Given the description of an element on the screen output the (x, y) to click on. 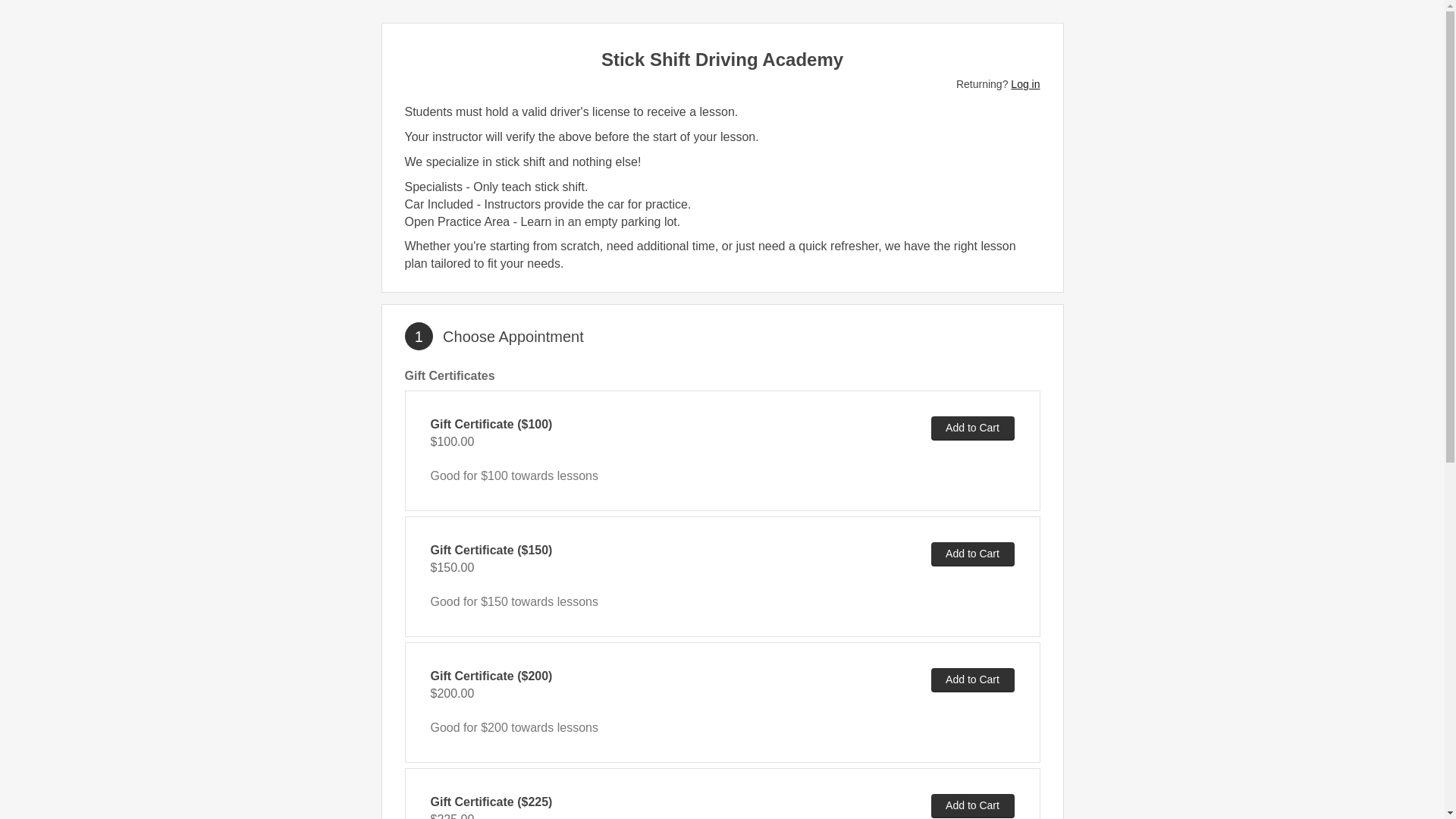
Add to Cart (972, 680)
Add to Cart (972, 805)
Add to Cart (972, 428)
Log in (1024, 83)
Choose Appointment (512, 336)
Add to Cart (972, 554)
